Given the description of an element on the screen output the (x, y) to click on. 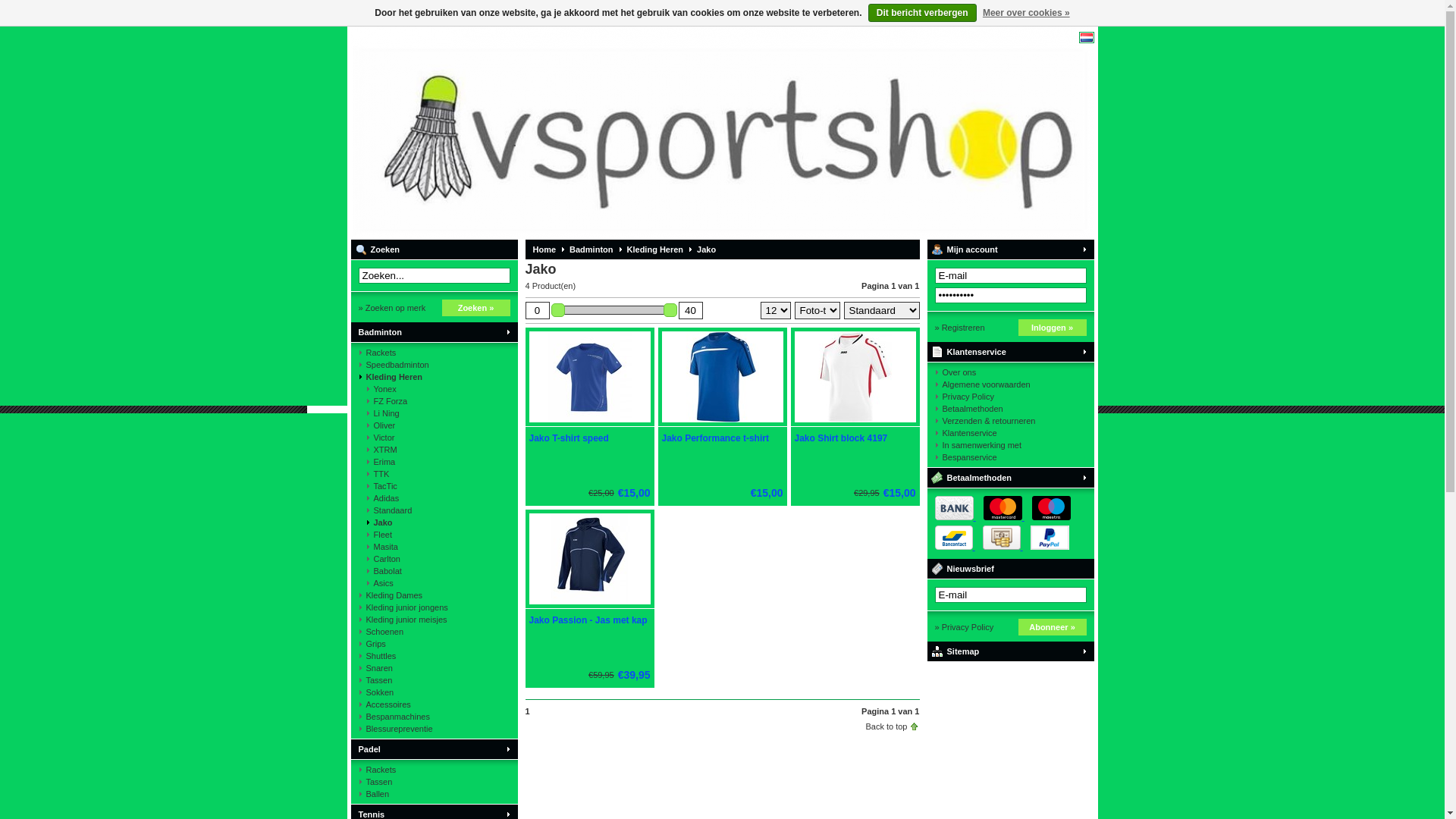
Privacy Policy Element type: text (1009, 396)
Rackets Element type: text (433, 352)
Grips Element type: text (433, 643)
Yonex Element type: text (433, 388)
Rackets Element type: text (433, 769)
Adidas Element type: text (433, 498)
Klantenservice Element type: text (1009, 432)
Jako Performance t-shirt Element type: hover (722, 422)
Verzenden & retourneren Element type: text (1009, 420)
Padel Element type: text (433, 749)
Masita Element type: text (433, 546)
Badminton Element type: text (433, 332)
Asics Element type: text (433, 583)
Over ons Element type: text (1009, 372)
Kleding Heren Element type: text (433, 376)
Li Ning Element type: text (433, 413)
Mijn account Element type: text (1009, 249)
Kleding junior meisjes Element type: text (433, 619)
Kleding Dames Element type: text (433, 595)
Fleet Element type: text (433, 534)
Snaren Element type: text (433, 668)
Betaalmethoden Element type: hover (998, 531)
TacTic Element type: text (433, 486)
Jako Performance t-shirt Element type: text (714, 438)
Oliver Element type: text (433, 425)
Jako Element type: text (702, 249)
Jako Passion - Jas met kap Element type: hover (588, 604)
Sitemap Element type: text (1009, 651)
Avsportshop Element type: text (551, 132)
Accessoires Element type: text (433, 704)
Back to top Element type: text (885, 726)
Erima Element type: text (433, 461)
Ballen Element type: text (433, 793)
Jako T-shirt speed Element type: text (568, 438)
Klantenservice Element type: text (1009, 351)
Jako Passion - Jas met kap Element type: text (588, 620)
Blessurepreventie Element type: text (433, 728)
Home Element type: text (539, 249)
Sokken Element type: text (433, 692)
Speedbadminton Element type: text (433, 364)
Bespanservice Element type: text (1009, 457)
Dit bericht verbergen Element type: text (922, 12)
Victor Element type: text (433, 437)
Badminton Element type: text (586, 249)
Shuttles Element type: text (433, 655)
Algemene voorwaarden Element type: text (1009, 384)
Schoenen Element type: text (433, 631)
Betaalmethoden Element type: text (1009, 477)
Standaard Element type: text (433, 510)
Betaalmethoden Element type: text (1009, 408)
Kleding Heren Element type: text (651, 249)
Tassen Element type: text (433, 680)
Kleding junior jongens Element type: text (433, 607)
XTRM Element type: text (433, 449)
Bespanmachines Element type: text (433, 716)
FZ Forza Element type: text (433, 401)
Carlton Element type: text (433, 558)
Tassen Element type: text (433, 781)
In samenwerking met Element type: text (1009, 445)
Jako Shirt block 4197 Element type: text (841, 438)
Jako T-shirt speed Element type: hover (588, 422)
Jako Shirt block 4197 Element type: hover (854, 422)
Babolat Element type: text (433, 570)
Nederlands Element type: text (1085, 37)
Jako Element type: text (433, 522)
TTK Element type: text (433, 473)
